Given the description of an element on the screen output the (x, y) to click on. 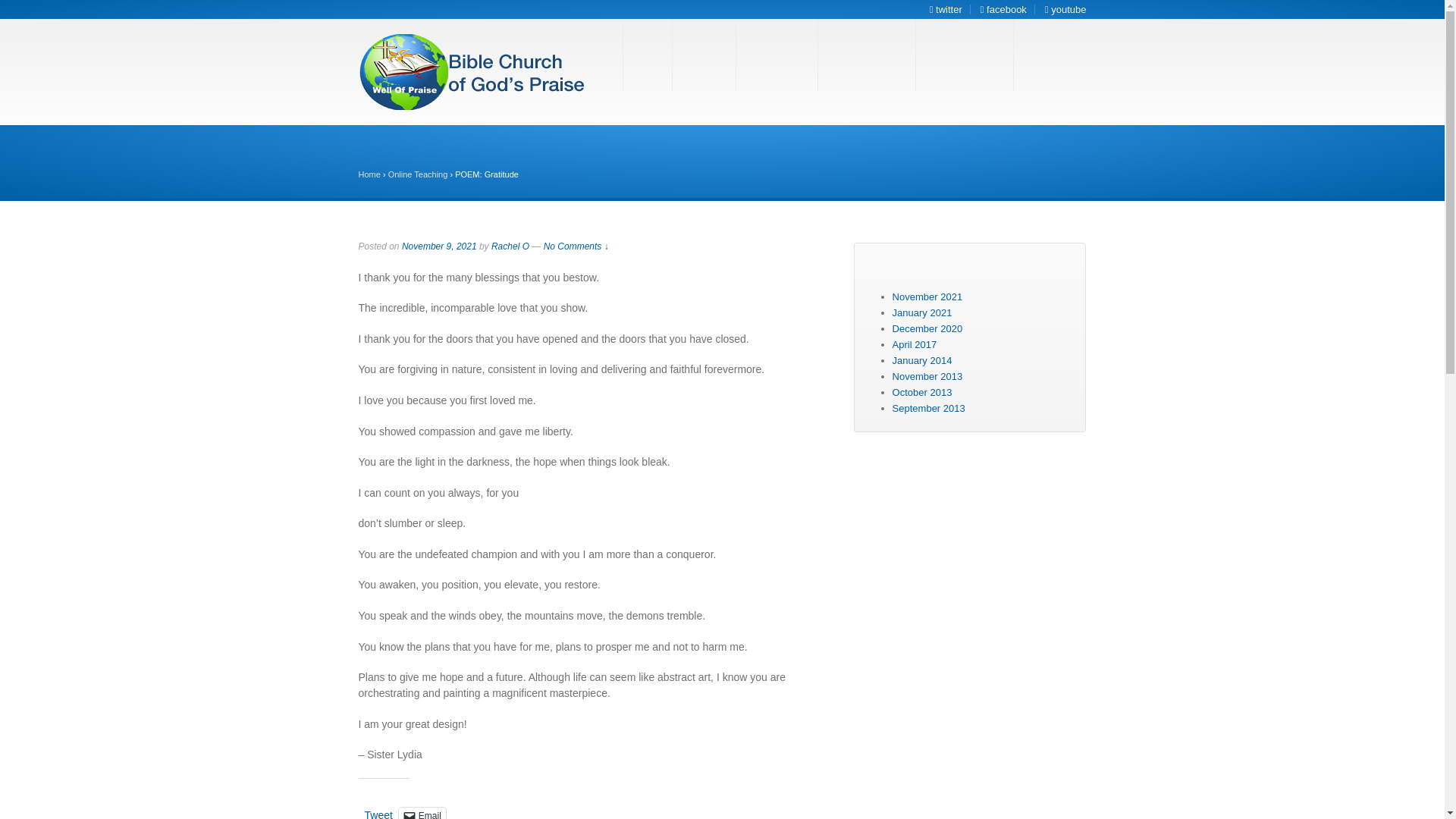
Tweet (377, 813)
November 2013 (927, 376)
View all posts by Rachel O (510, 245)
Click to email a link to a friend (421, 813)
September 2013 (928, 408)
Rachel O (510, 245)
November 9, 2021 (439, 245)
January 2021 (922, 312)
Online Teaching (418, 174)
December 2020 (927, 328)
